Given the description of an element on the screen output the (x, y) to click on. 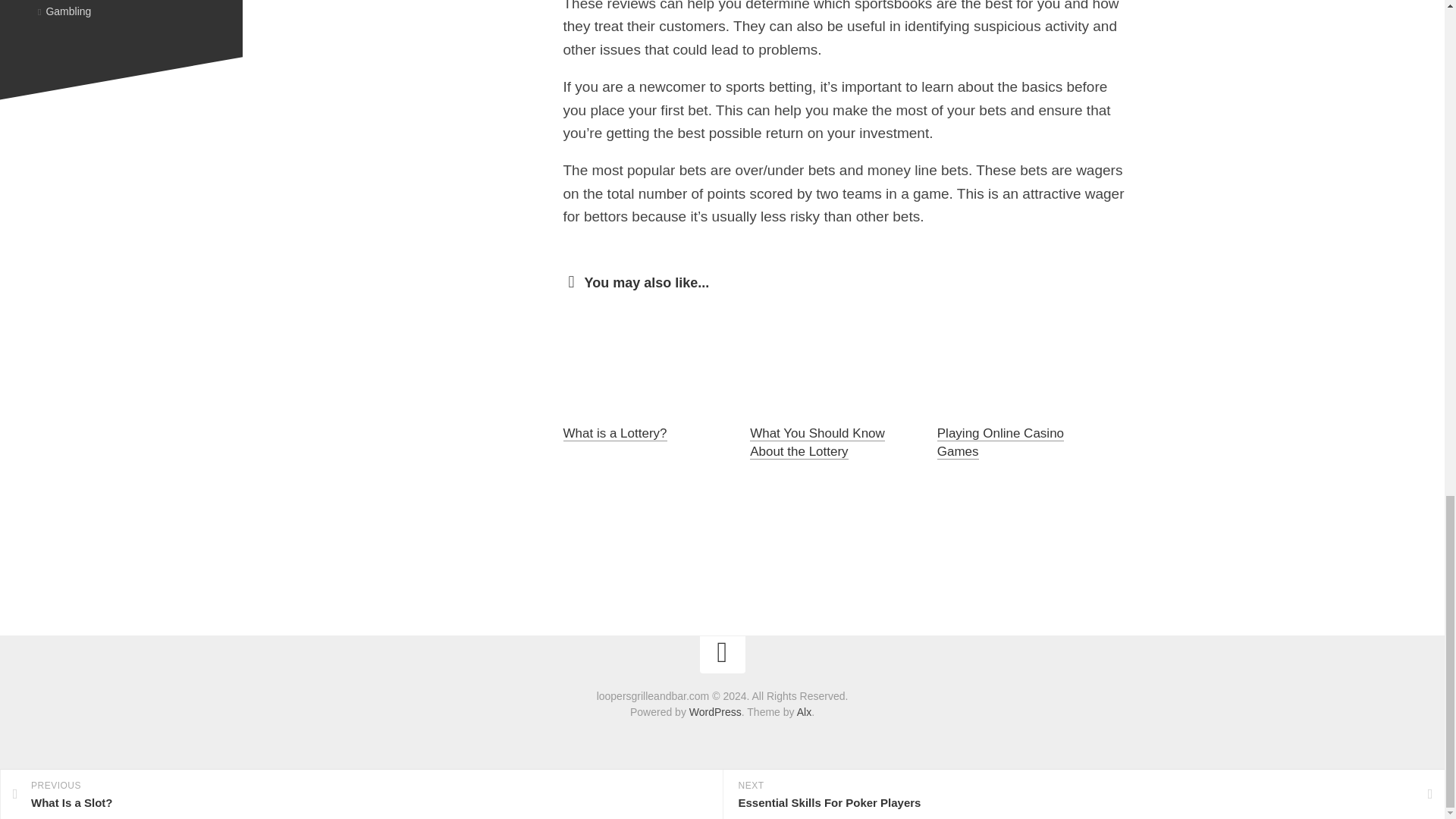
Playing Online Casino Games (1000, 441)
What is a Lottery? (614, 432)
What You Should Know About the Lottery (817, 441)
